Given the description of an element on the screen output the (x, y) to click on. 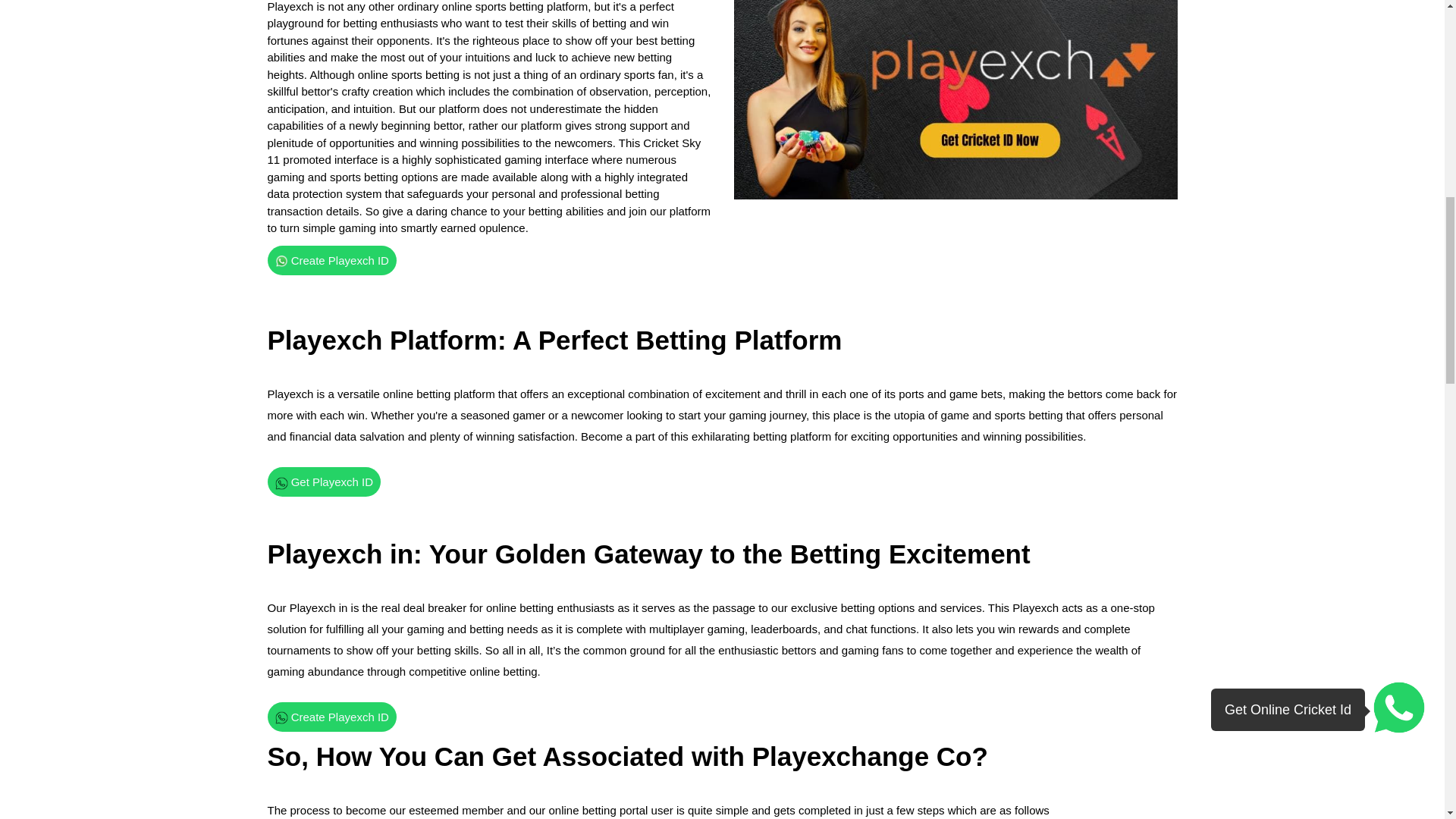
Create Playexch ID (331, 716)
Create Playexch ID (331, 260)
Get Playexch ID (323, 481)
